Given the description of an element on the screen output the (x, y) to click on. 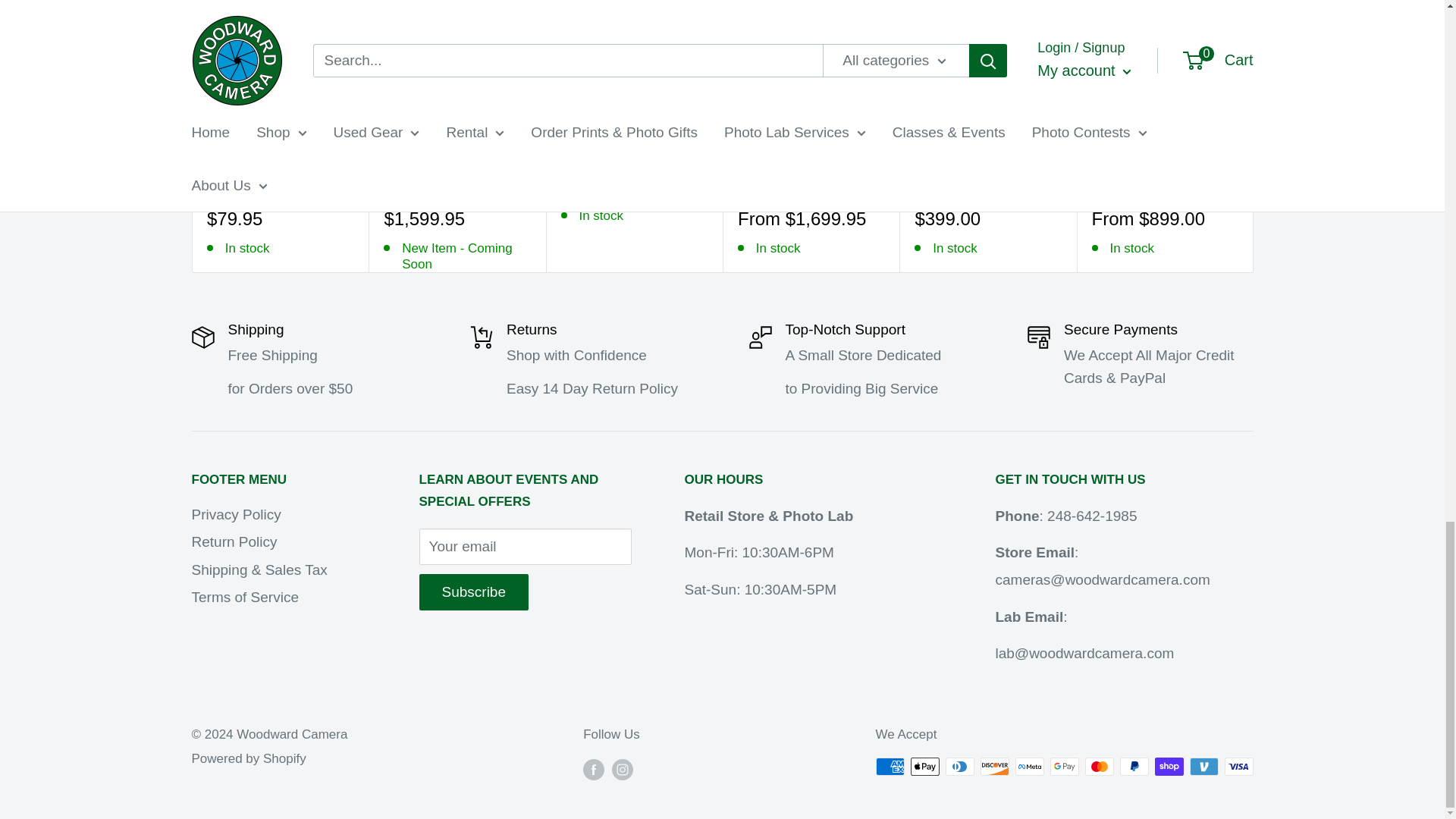
Lilac Purple (260, 184)
Clay White (238, 184)
Black (924, 184)
White (969, 184)
Blossom Pink (215, 184)
Silver (769, 184)
Red (946, 184)
Pastel Blue (306, 184)
Black (393, 184)
Mint Green (284, 184)
